Given the description of an element on the screen output the (x, y) to click on. 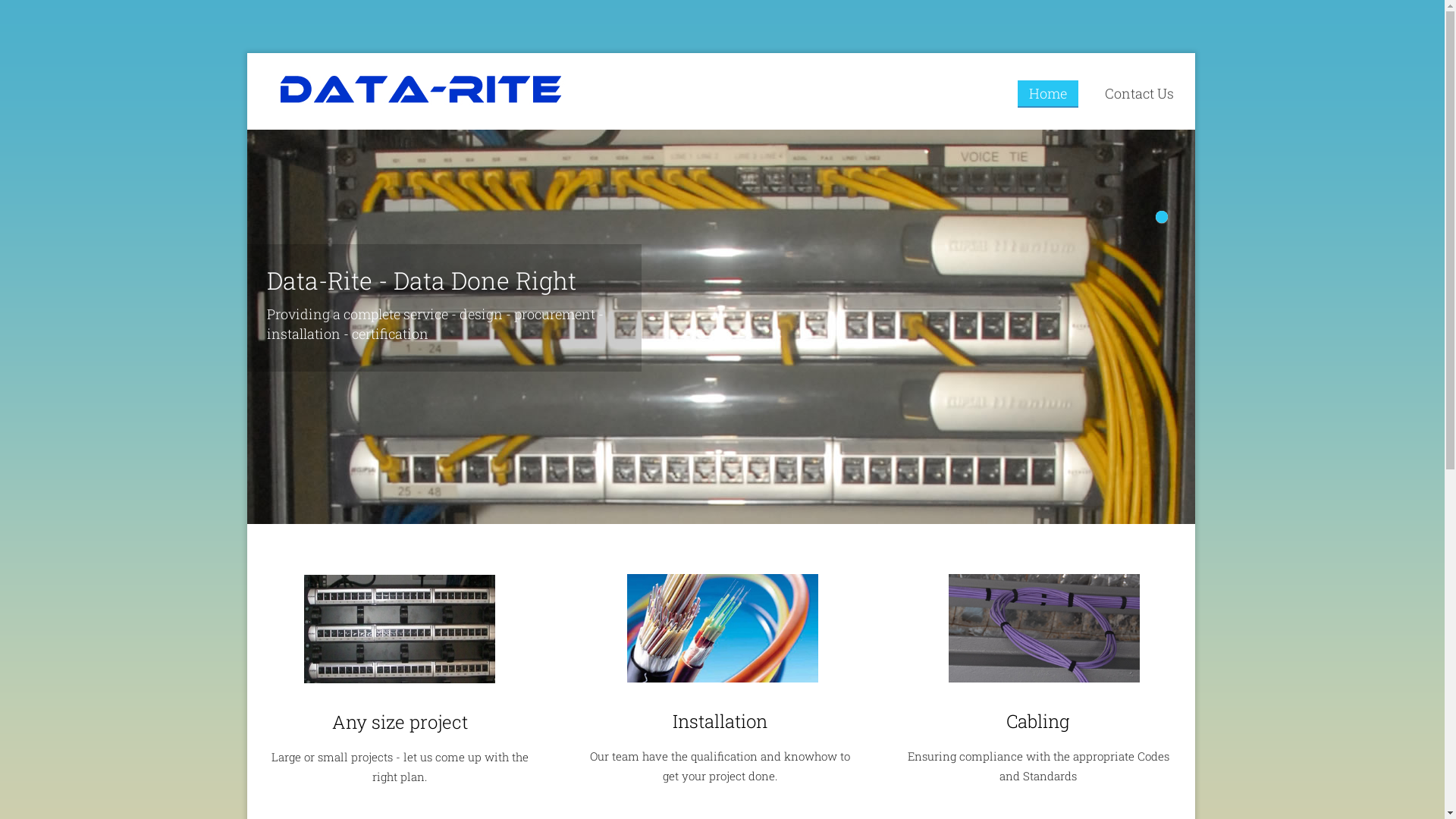
Cabling Element type: text (1037, 721)
Home Element type: text (1047, 93)
Any size project Element type: text (399, 721)
Installation Element type: text (719, 721)
Contact Us Element type: text (1139, 93)
Data-Rite - Data Done Right Element type: text (445, 280)
